Given the description of an element on the screen output the (x, y) to click on. 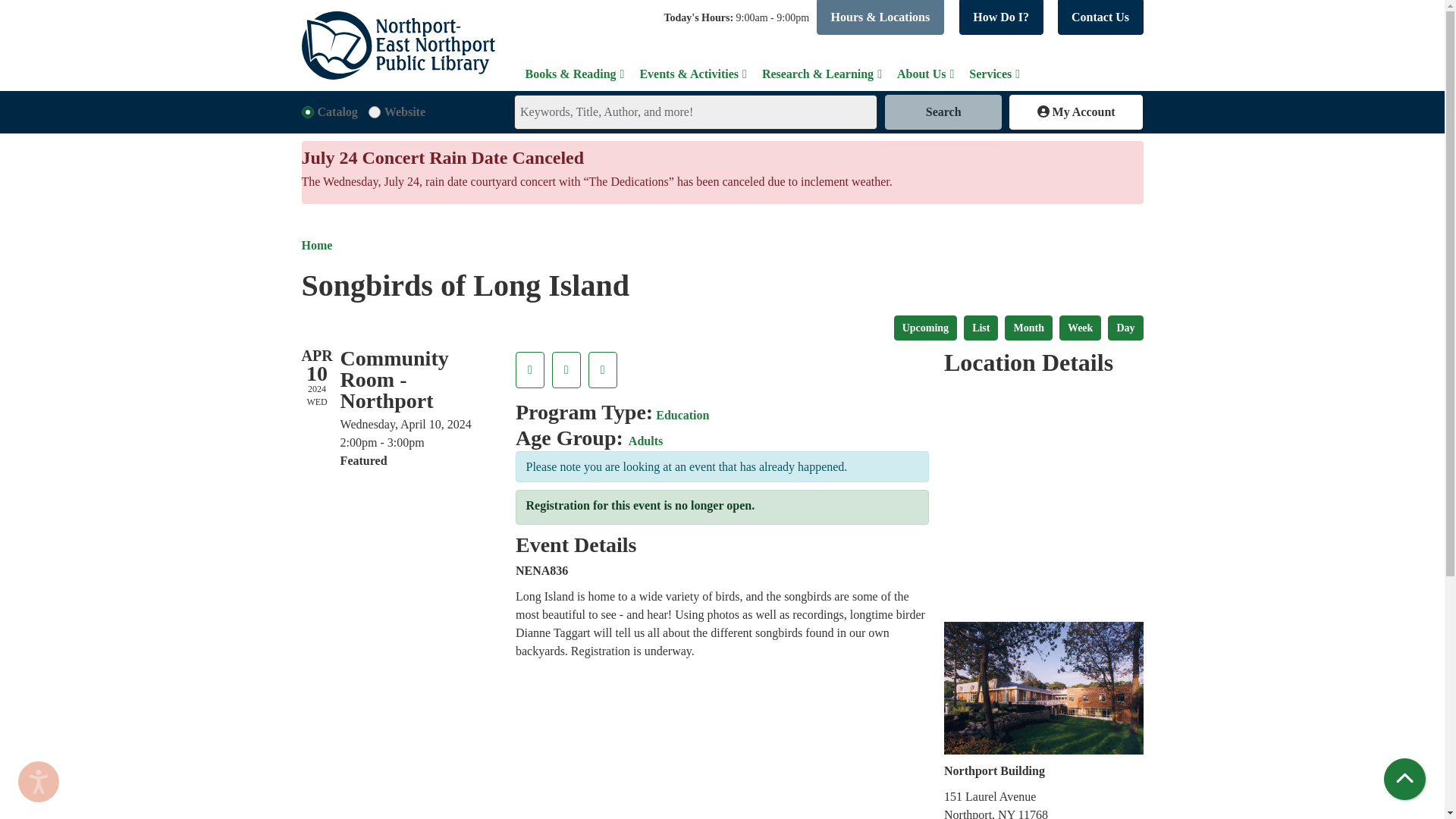
Listen with the ReachDeck Toolbar (38, 781)
How Do I? (1001, 17)
Contact Us (1099, 17)
About Us (924, 73)
Home (398, 45)
